Given the description of an element on the screen output the (x, y) to click on. 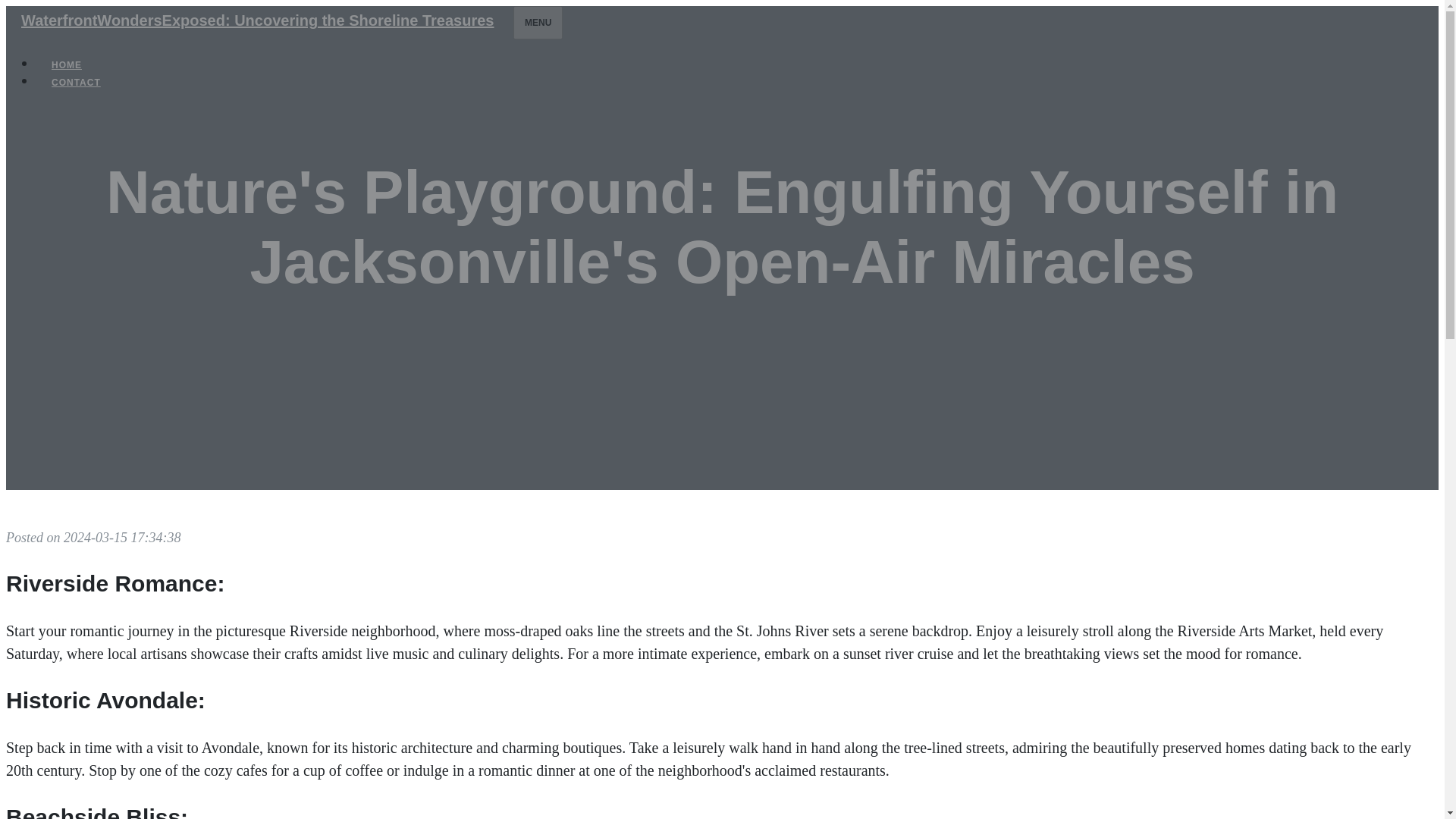
WaterfrontWondersExposed: Uncovering the Shoreline Treasures (256, 20)
MENU (537, 22)
HOME (66, 64)
CONTACT (76, 82)
